Given the description of an element on the screen output the (x, y) to click on. 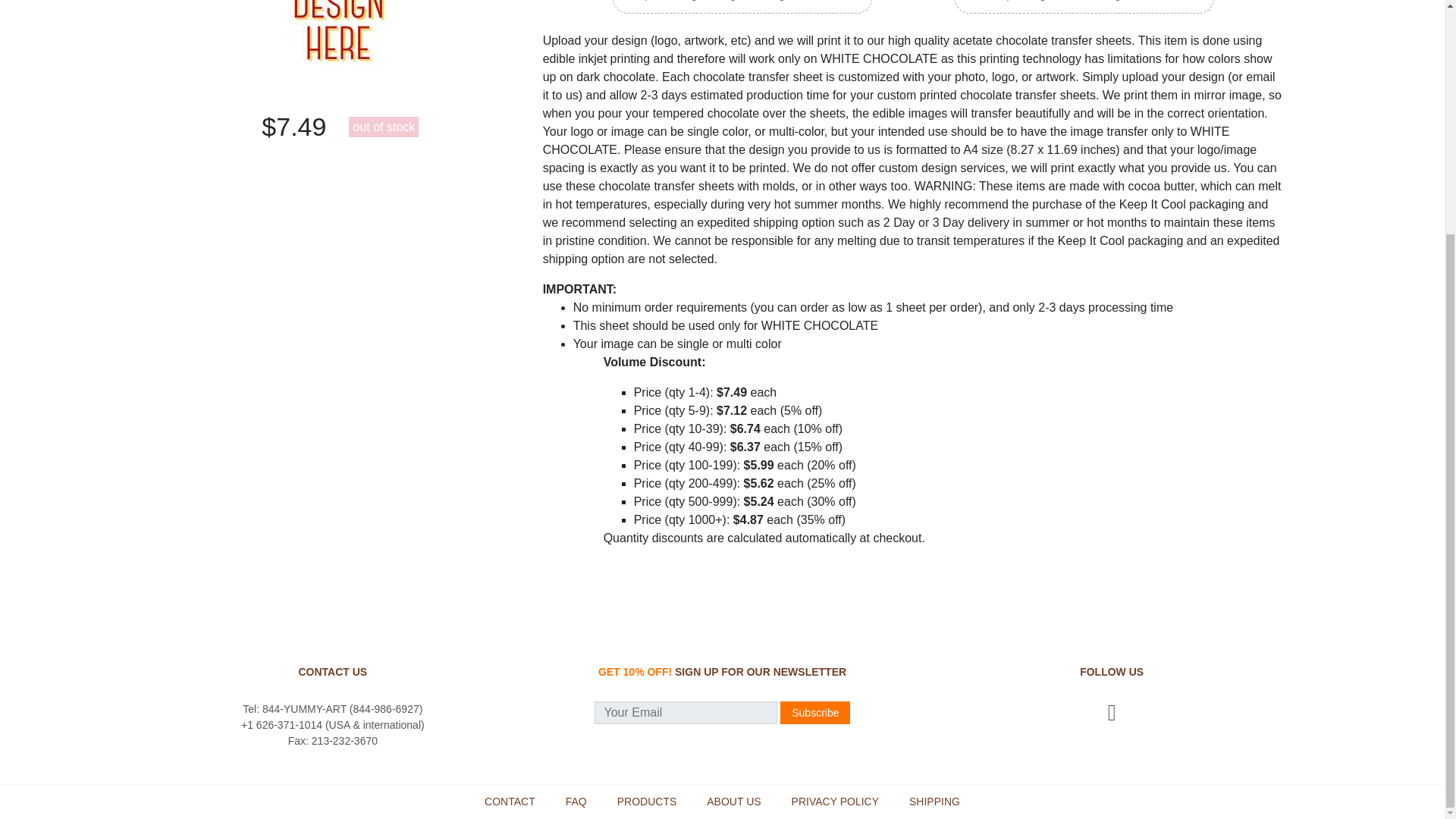
SHIPPING (933, 801)
FAQ (576, 801)
ABOUT US (733, 801)
CONTACT (509, 801)
PRODUCTS (647, 801)
Subscribe (815, 712)
PRIVACY POLICY (835, 801)
